Given the description of an element on the screen output the (x, y) to click on. 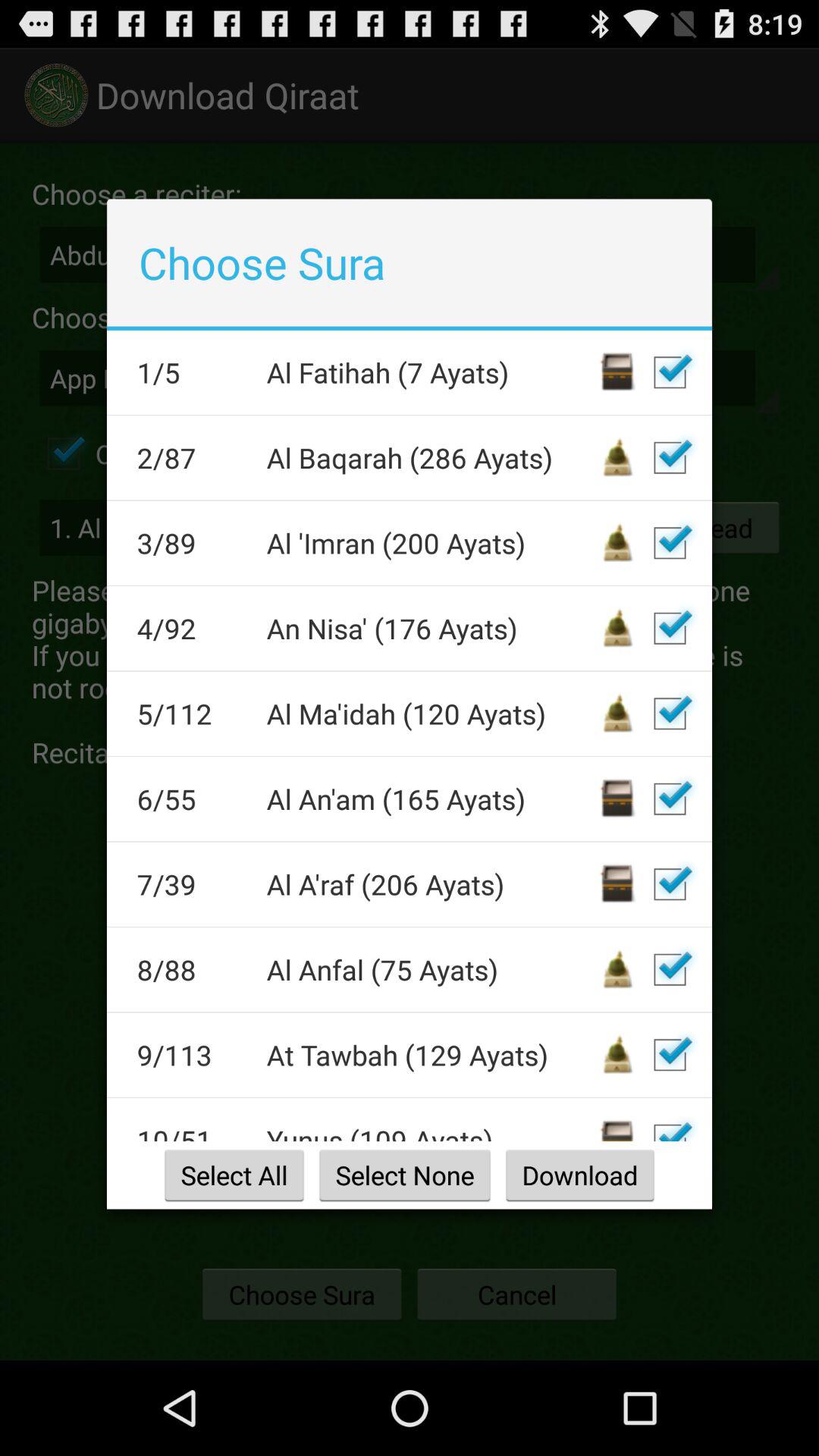
press icon next to the yunus (109 ayats) item (191, 1131)
